Given the description of an element on the screen output the (x, y) to click on. 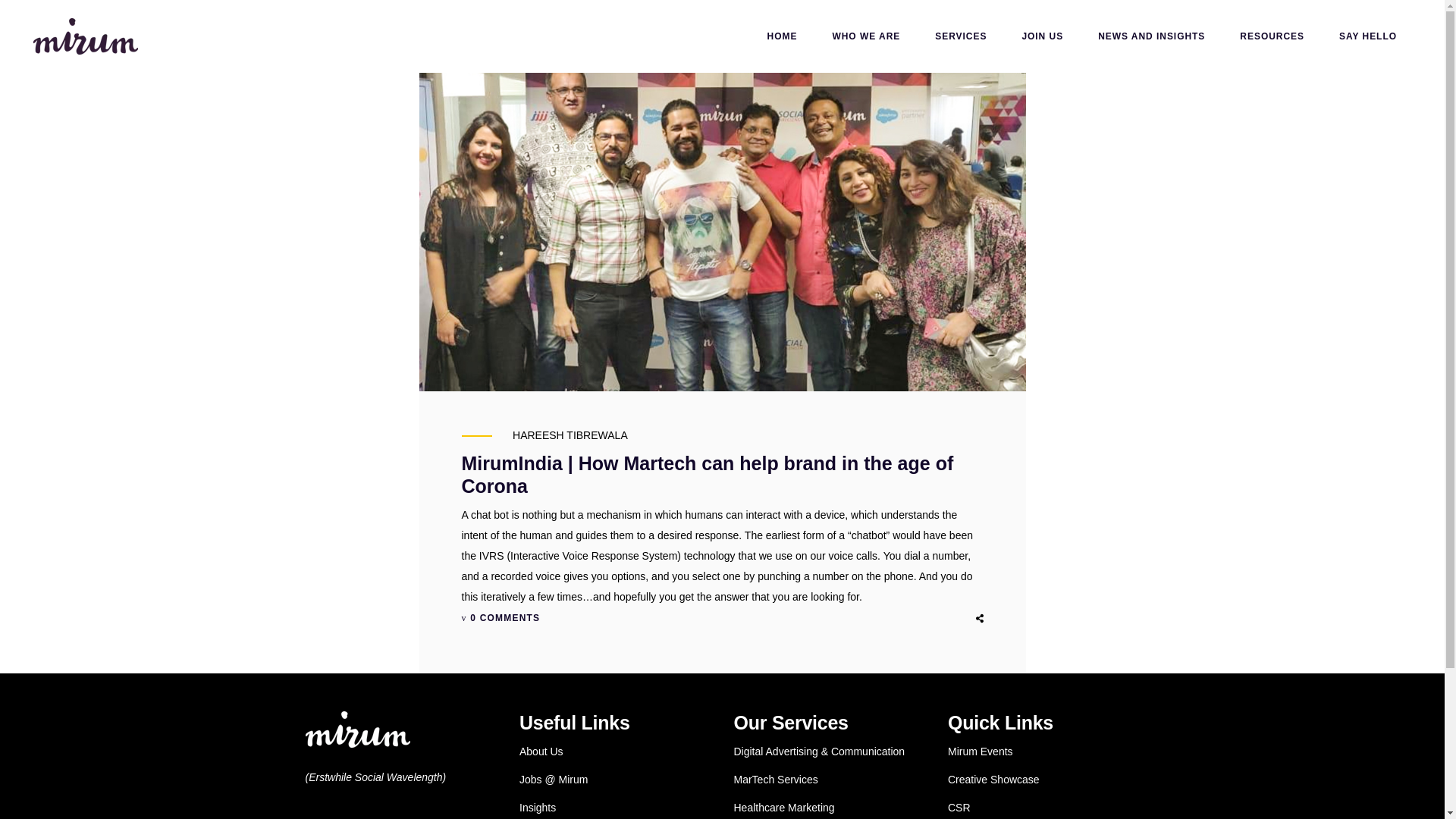
HOME (782, 36)
JOIN US (1042, 36)
WHO WE ARE (865, 36)
SAY HELLO (1367, 36)
SERVICES (960, 36)
RESOURCES (1272, 36)
NEWS AND INSIGHTS (1151, 36)
